Given the description of an element on the screen output the (x, y) to click on. 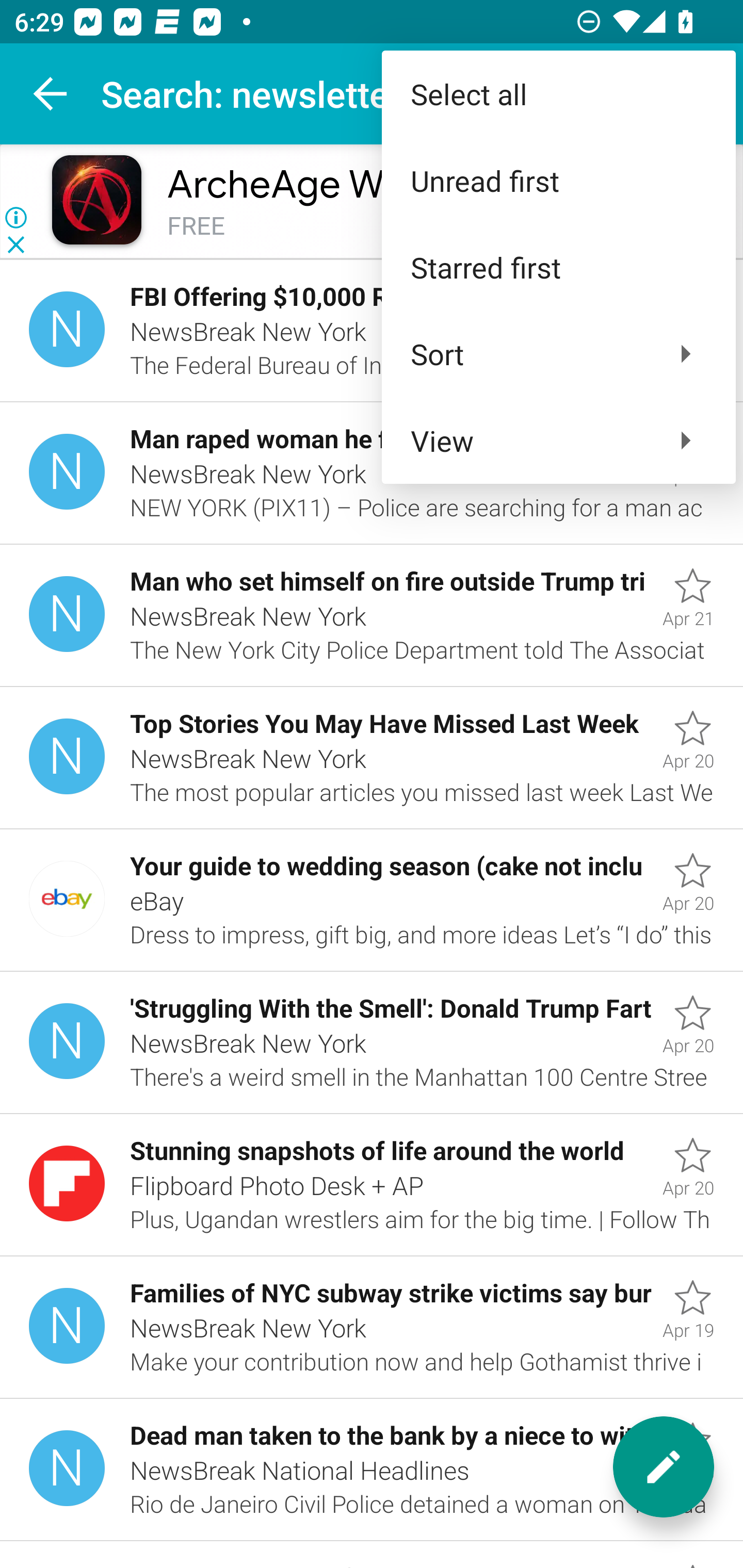
Select all (558, 93)
Unread first (558, 180)
Starred first (558, 267)
Sort (558, 353)
View (558, 440)
